Given the description of an element on the screen output the (x, y) to click on. 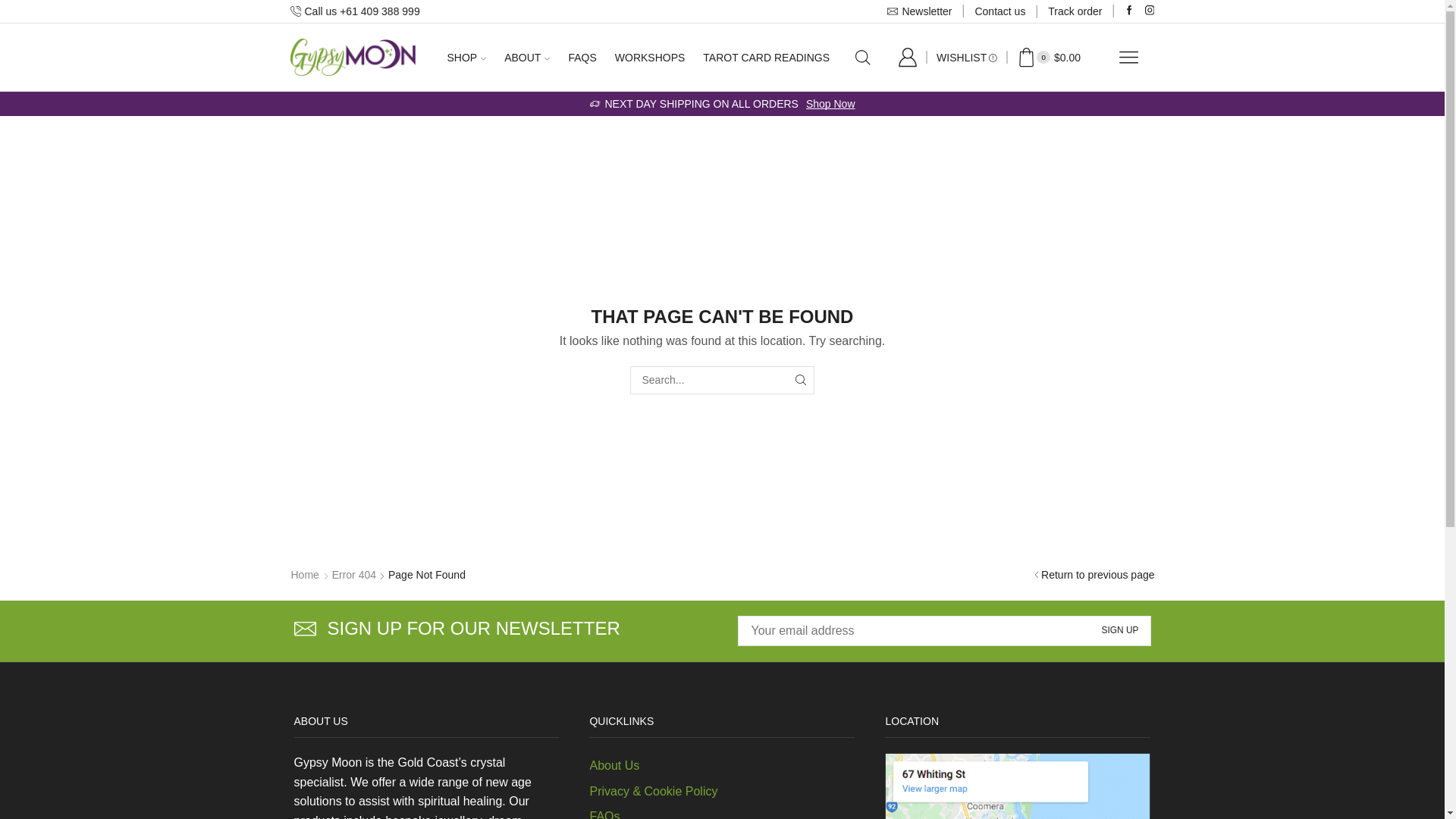
Track order Element type: text (1074, 10)
About Us Element type: text (614, 765)
FAQS Element type: text (581, 56)
TAROT CARD READINGS Element type: text (765, 56)
SHOP Element type: text (466, 56)
Facebook Element type: hover (1129, 10)
Sign up Element type: text (1120, 630)
Contact us Element type: text (999, 10)
Return to previous page Element type: text (1097, 574)
Shop now Element type: text (636, 103)
Log in Element type: text (939, 305)
Privacy & Cookie Policy Element type: text (653, 791)
Home Element type: text (304, 574)
0
$0.00 Element type: text (1048, 57)
ABOUT Element type: text (526, 56)
Instagram Element type: hover (1149, 10)
WORKSHOPS Element type: text (650, 56)
